Given the description of an element on the screen output the (x, y) to click on. 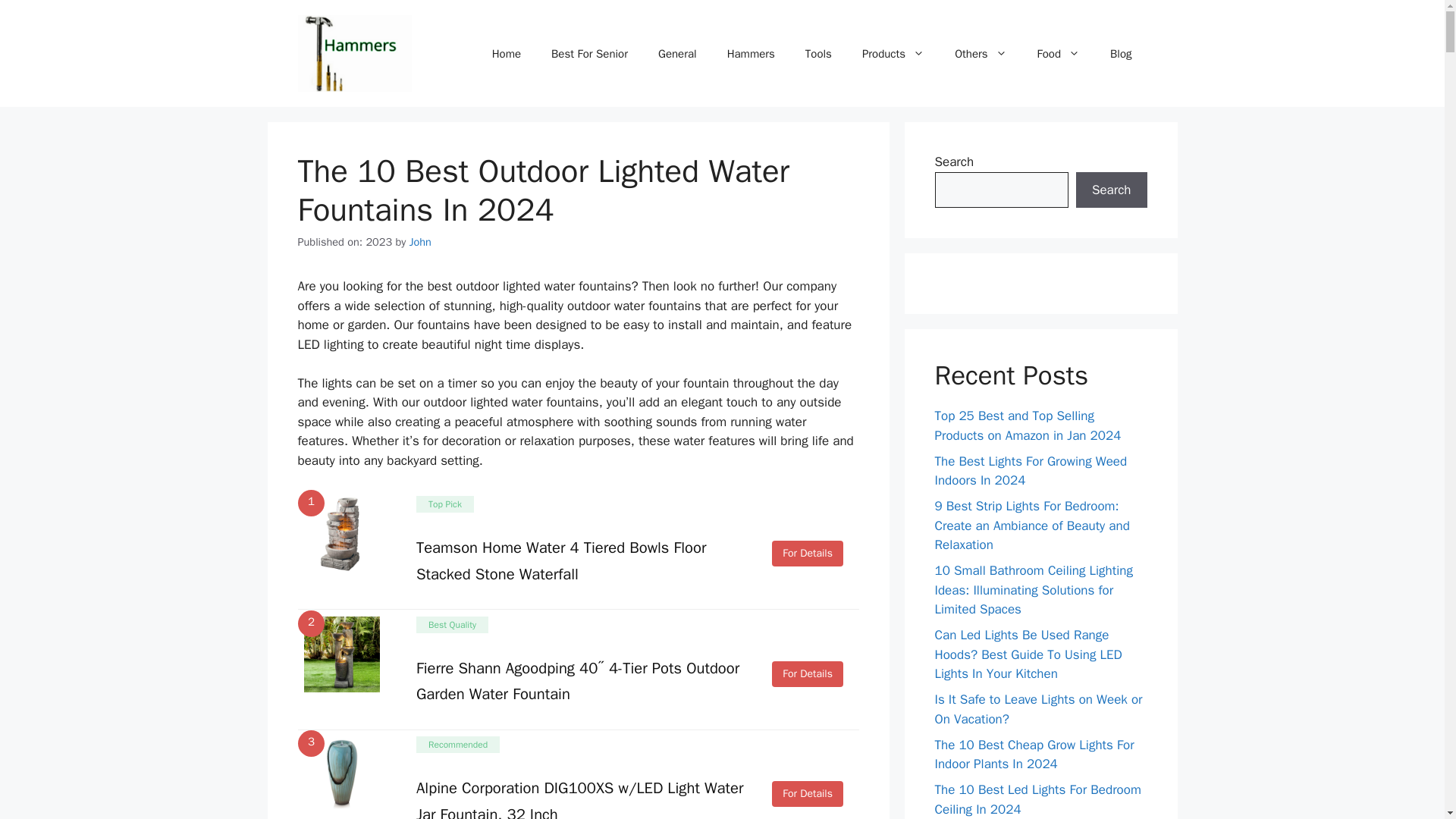
Theusefulhammers (353, 53)
Home (506, 53)
Hammers (750, 53)
Blog (1120, 53)
Products (893, 53)
Tools (818, 53)
General (677, 53)
Best For Senior (589, 53)
Others (980, 53)
John (419, 241)
